Given the description of an element on the screen output the (x, y) to click on. 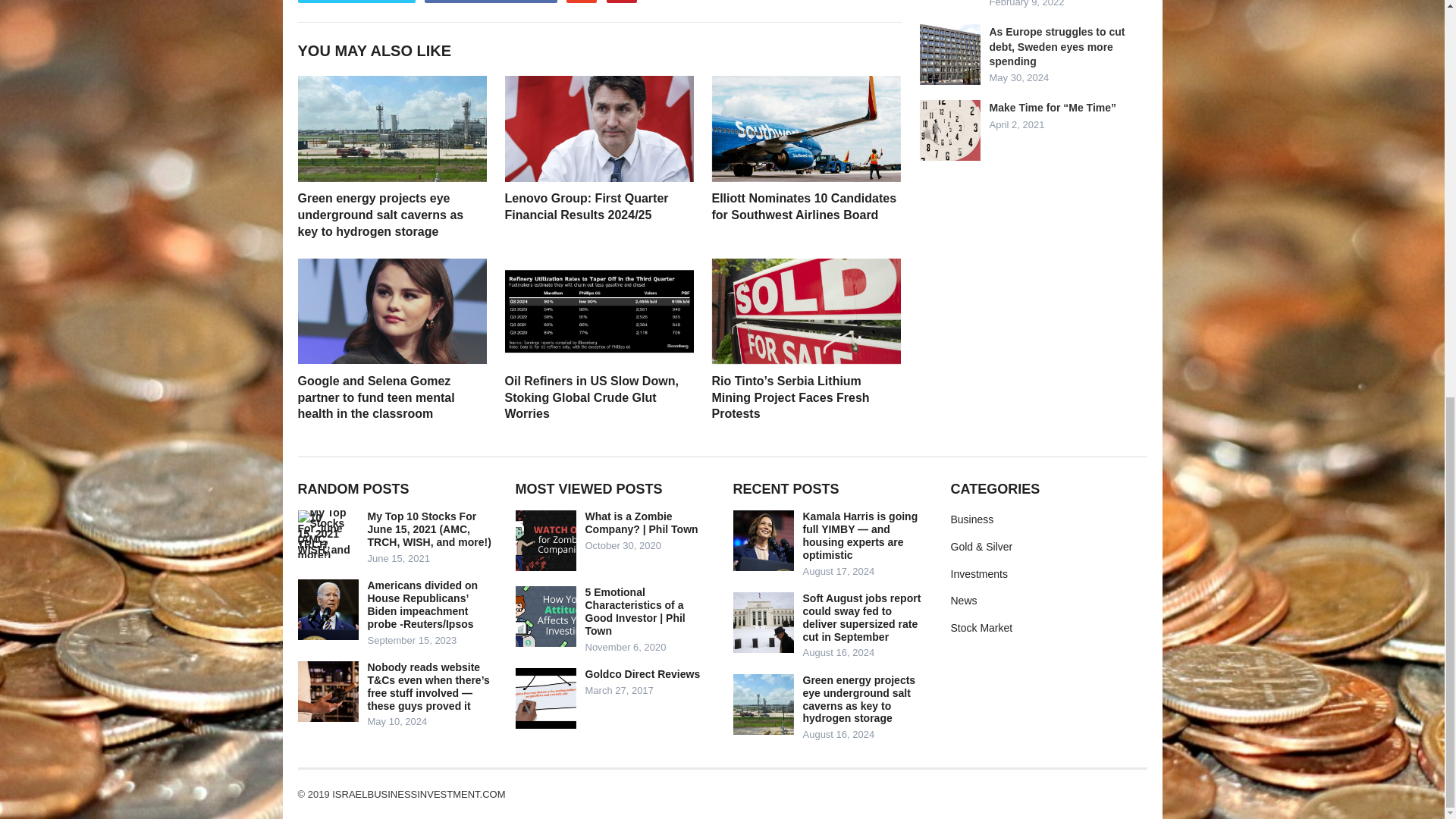
Pinterest (622, 1)
Tweet on Twitter (355, 1)
Share on Facebook (490, 1)
